Given the description of an element on the screen output the (x, y) to click on. 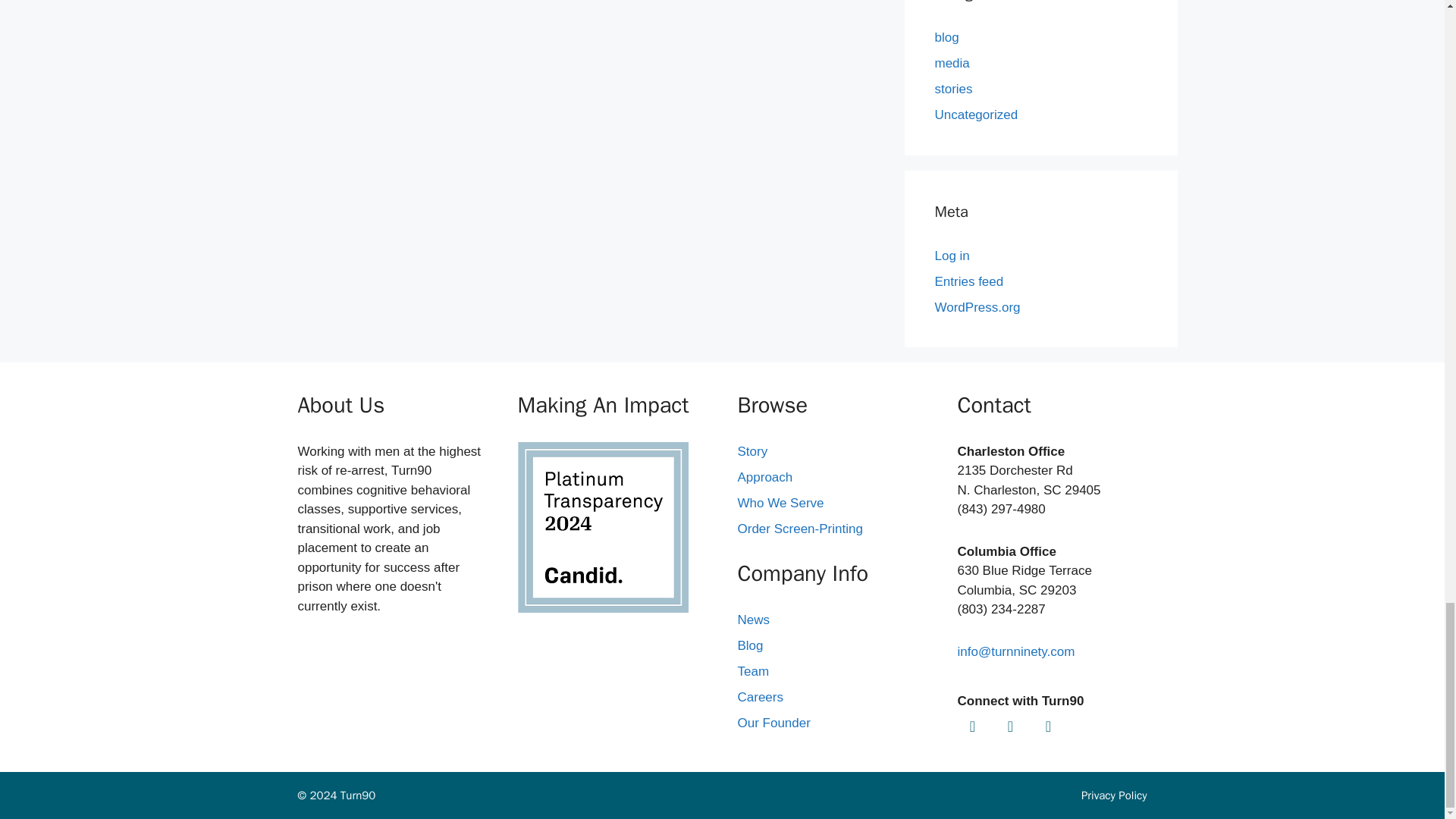
Turn90 Facebook (1009, 726)
Turn90 Instagram (971, 726)
Turn90 Twitter (1047, 726)
